Given the description of an element on the screen output the (x, y) to click on. 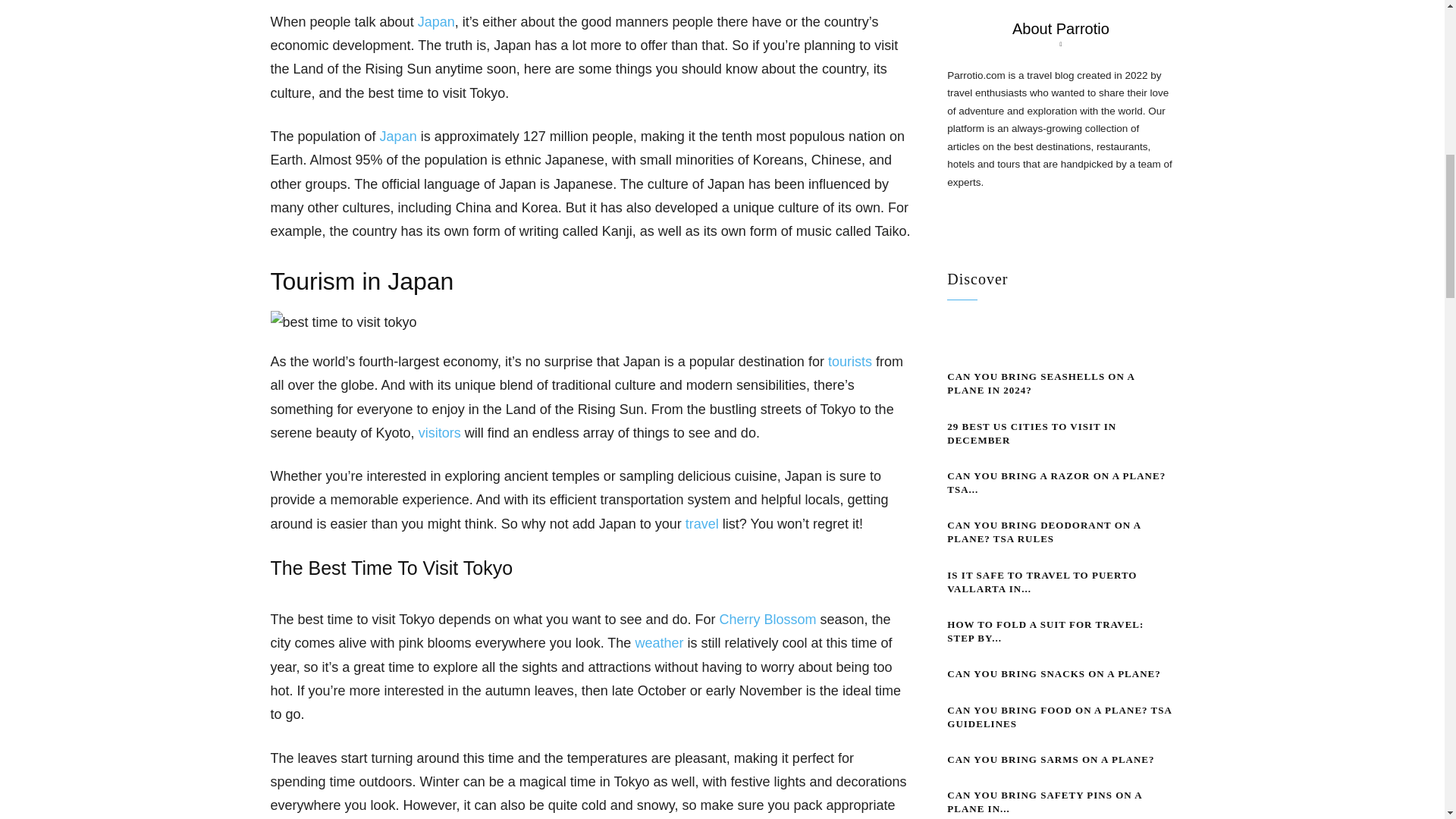
travel (702, 523)
tourists (850, 361)
Japan (435, 21)
visitors (440, 432)
weather (658, 642)
Cherry Blossom (767, 619)
Japan (398, 136)
